Given the description of an element on the screen output the (x, y) to click on. 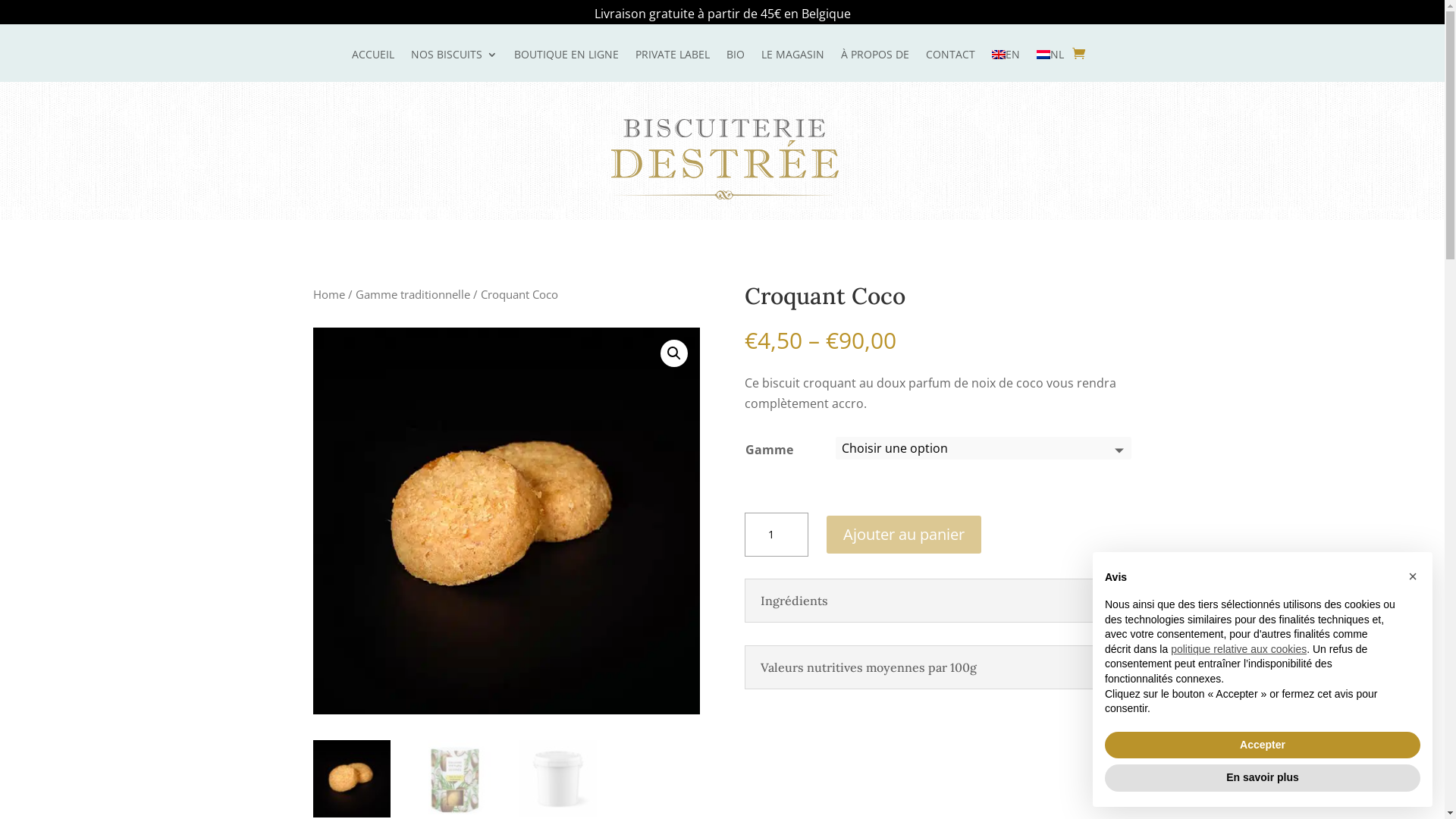
LE MAGASIN Element type: text (792, 65)
BOUTIQUE EN LIGNE Element type: text (566, 65)
Accepter Element type: text (1262, 745)
ACCUEIL Element type: text (372, 65)
En savoir plus Element type: text (1262, 777)
Gamme traditionnelle Element type: text (411, 293)
PRIVATE LABEL Element type: text (672, 65)
politique relative aux cookies Element type: text (1238, 649)
EN Element type: text (1005, 65)
biscuit-noix-de-coco Element type: hover (505, 520)
logo Element type: hover (724, 159)
Ajouter au panier Element type: text (903, 534)
Home Element type: text (328, 293)
NOS BISCUITS Element type: text (454, 65)
BIO Element type: text (735, 65)
CONTACT Element type: text (949, 65)
NL Element type: text (1049, 65)
